Given the description of an element on the screen output the (x, y) to click on. 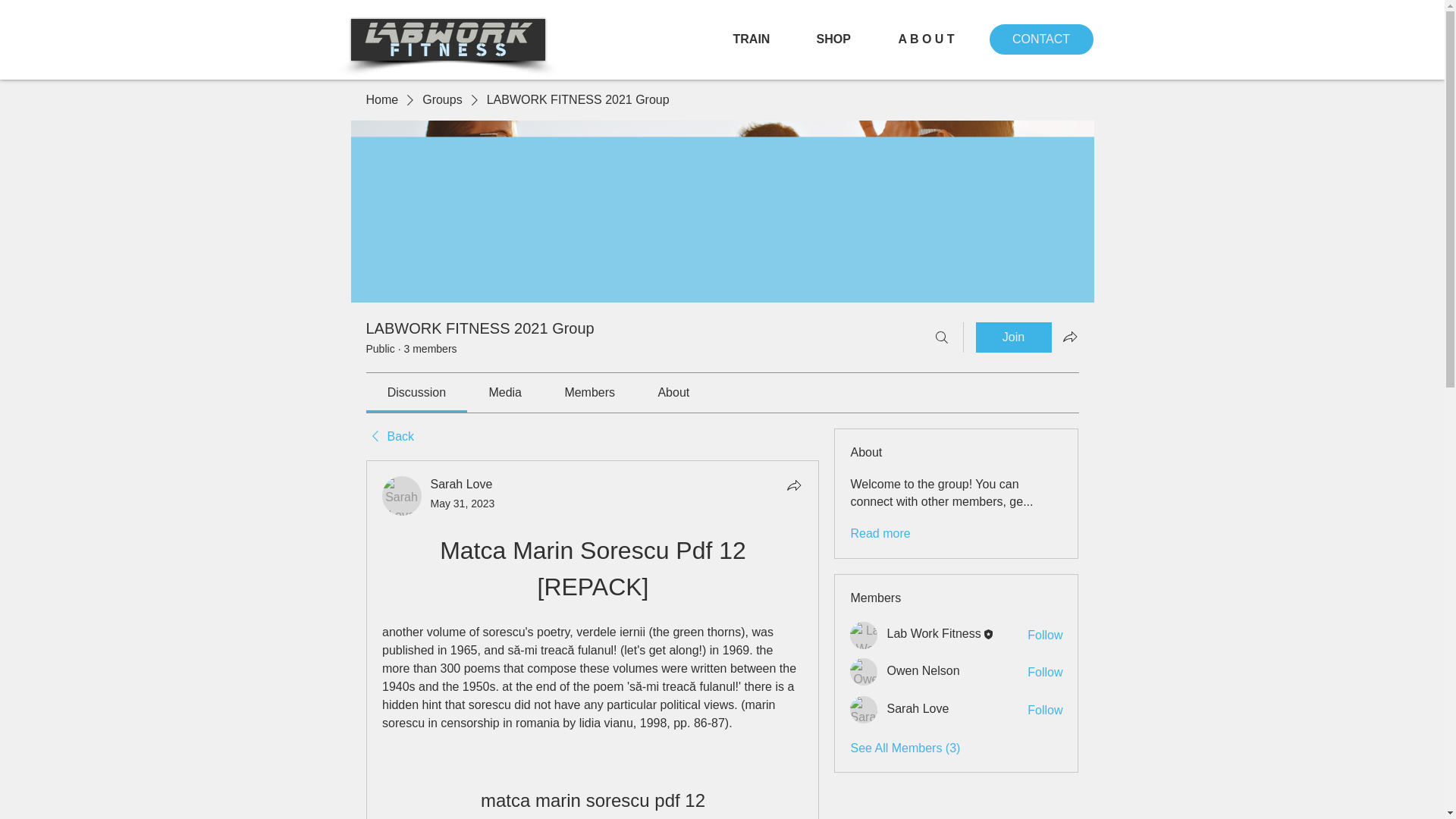
Follow (1044, 672)
Owen Nelson (863, 671)
May 31, 2023 (462, 503)
Home (381, 99)
Join (1013, 337)
Follow (1044, 710)
Groups (441, 99)
Sarah Love (401, 495)
A B O U T (938, 39)
Sarah Love (863, 709)
